Given the description of an element on the screen output the (x, y) to click on. 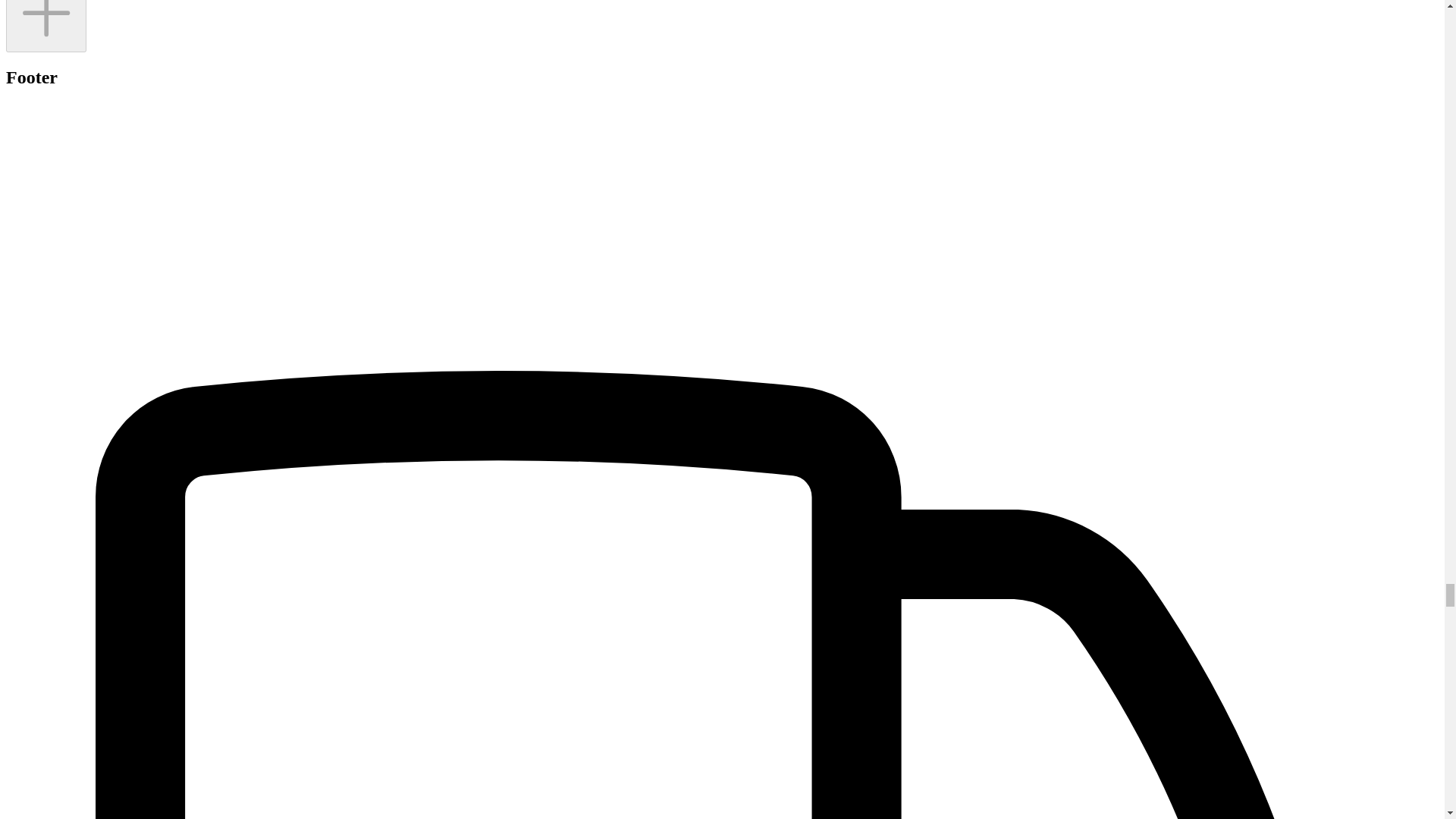
Product Details (45, 25)
